Given the description of an element on the screen output the (x, y) to click on. 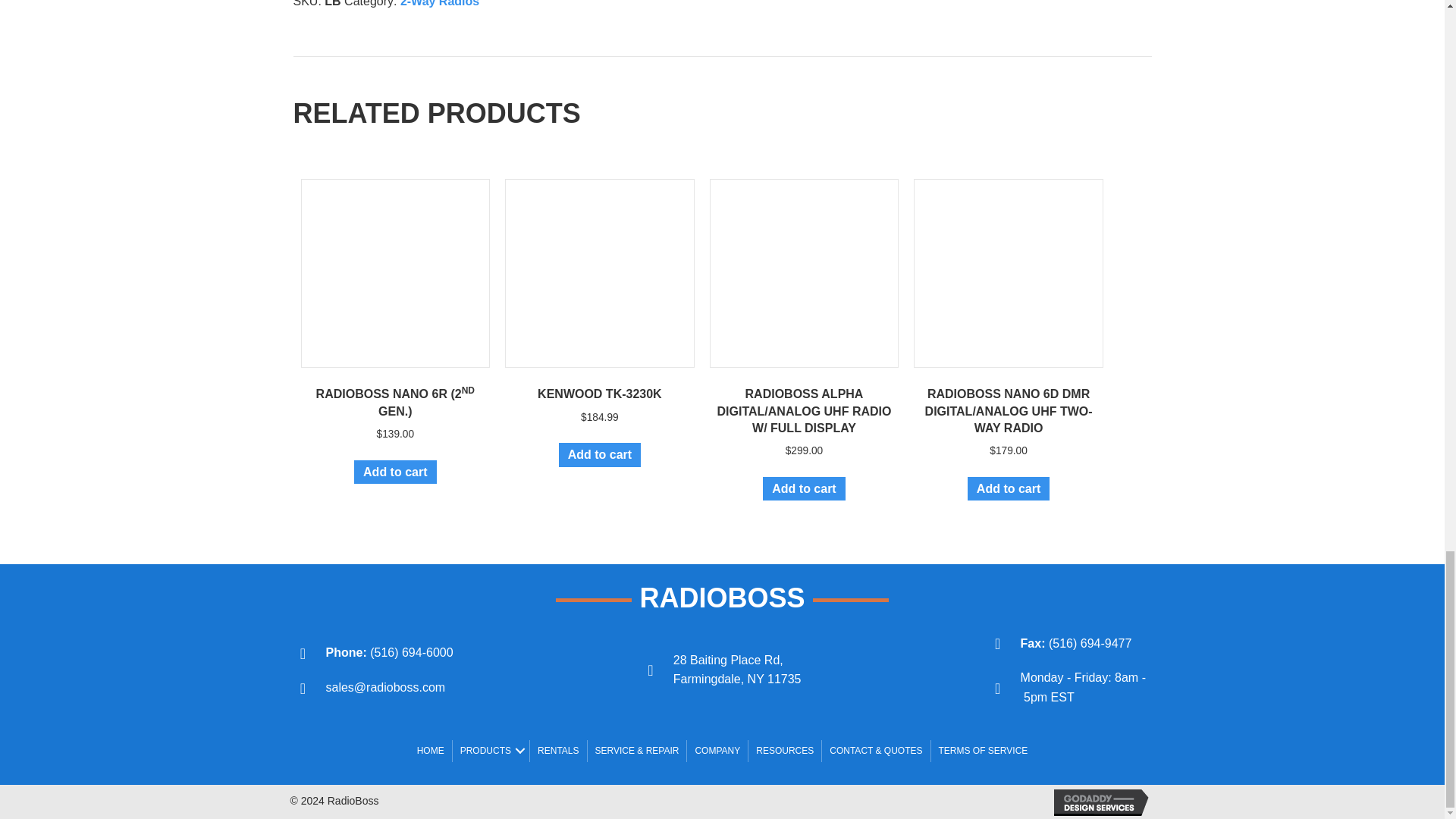
Add to cart (1008, 488)
RADIOBOSS (721, 597)
Add to cart (803, 488)
2-Way Radios (439, 3)
Add to cart (599, 454)
Add to cart (394, 472)
